Given the description of an element on the screen output the (x, y) to click on. 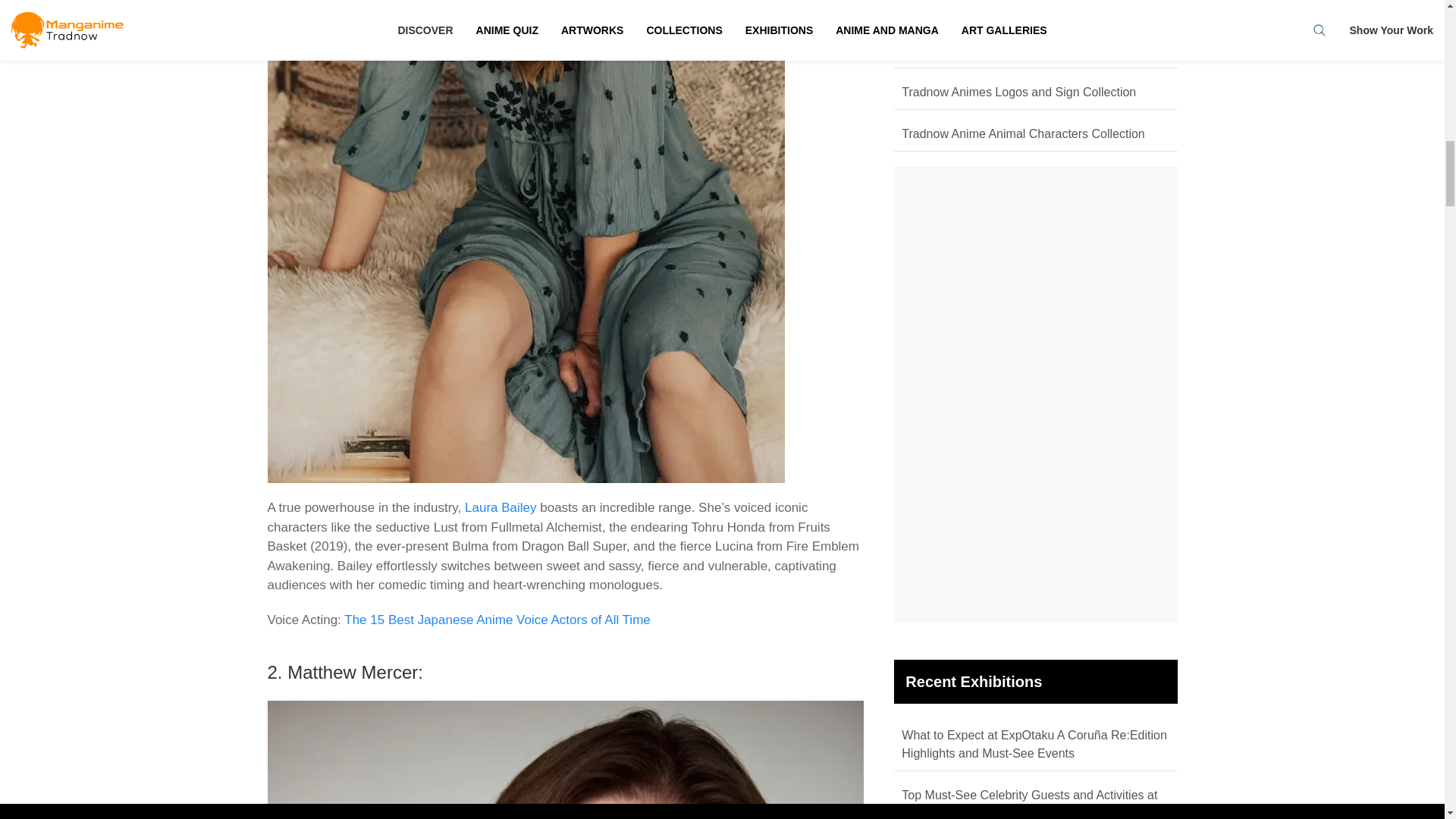
Laura Bailey (500, 507)
The 15 Best Japanese Anime Voice Actors of All Time (496, 619)
